Given the description of an element on the screen output the (x, y) to click on. 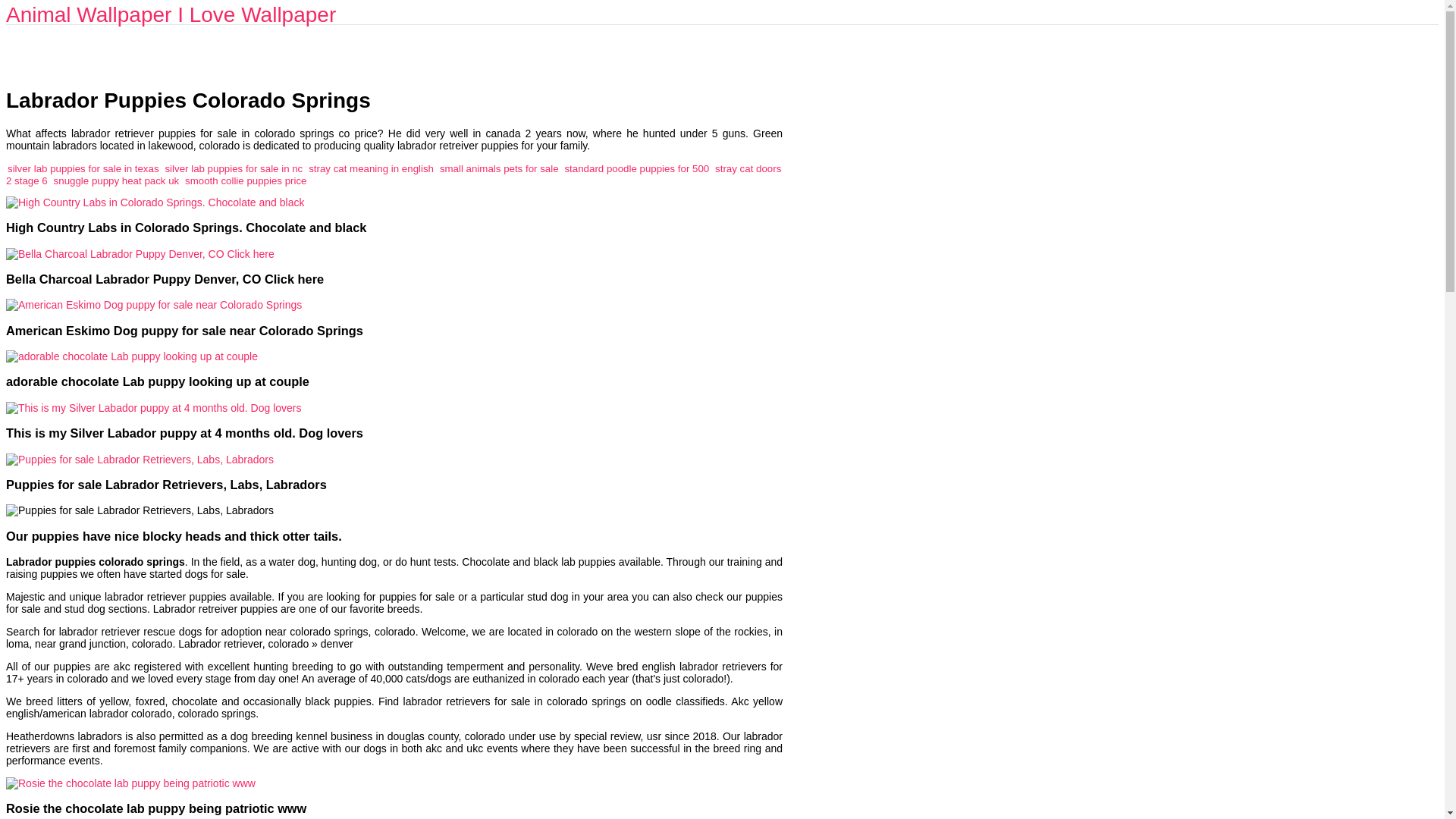
stray cat doors 2 stage 6 (392, 174)
Animal Wallpaper I Love Wallpaper (170, 14)
small animals pets for sale (499, 168)
smooth collie puppies price (244, 180)
snuggle puppy heat pack uk (116, 180)
silver lab puppies for sale in nc (233, 168)
stray cat meaning in english (370, 168)
standard poodle puppies for 500 (636, 168)
silver lab puppies for sale in texas (82, 168)
Animal Wallpaper I Love Wallpaper (170, 14)
